Given the description of an element on the screen output the (x, y) to click on. 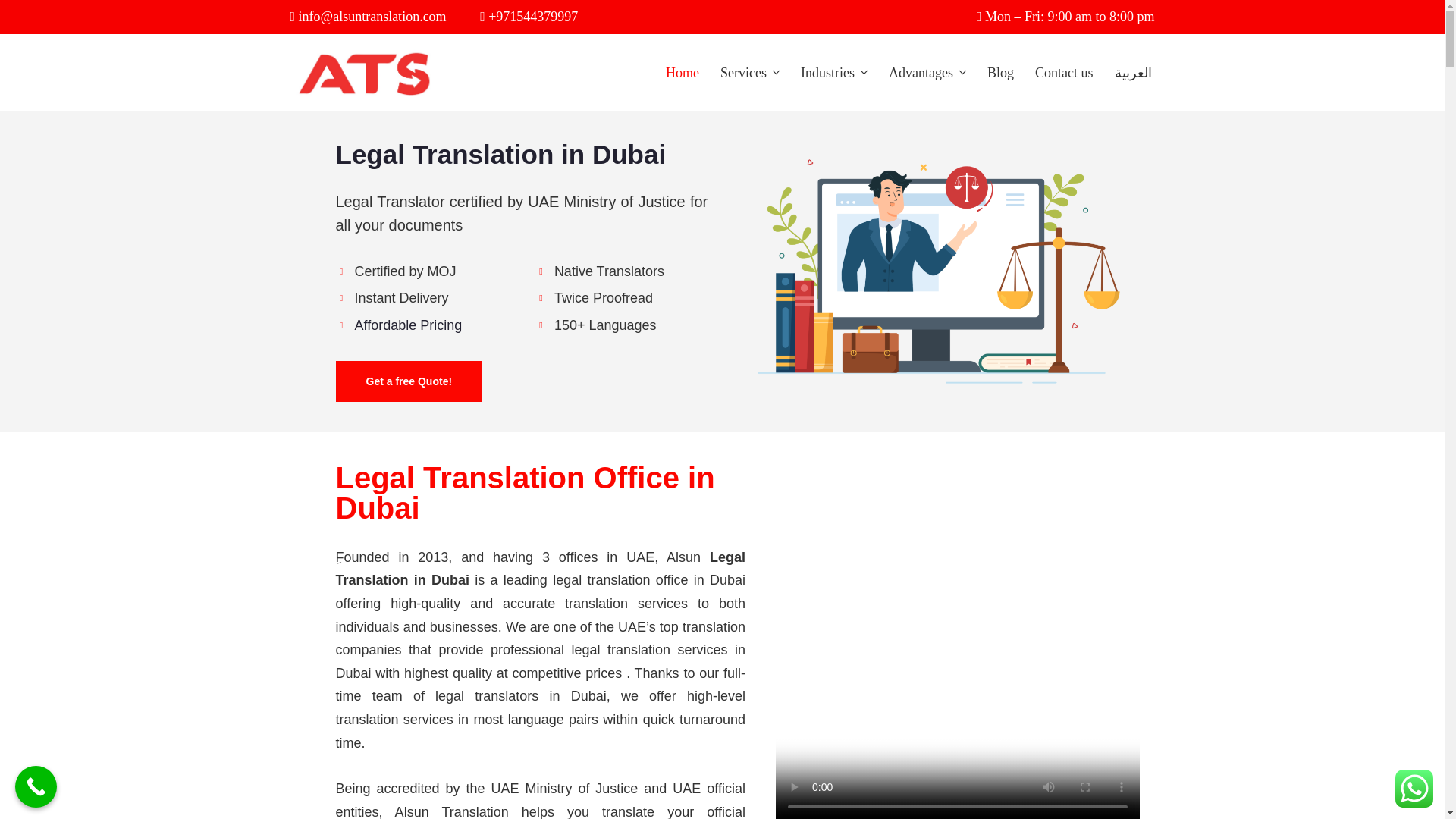
Advantages (920, 72)
Industries (827, 72)
Services (743, 72)
Blog (1000, 72)
Contact us (1064, 72)
Skip to content (11, 31)
Home (681, 72)
